Given the description of an element on the screen output the (x, y) to click on. 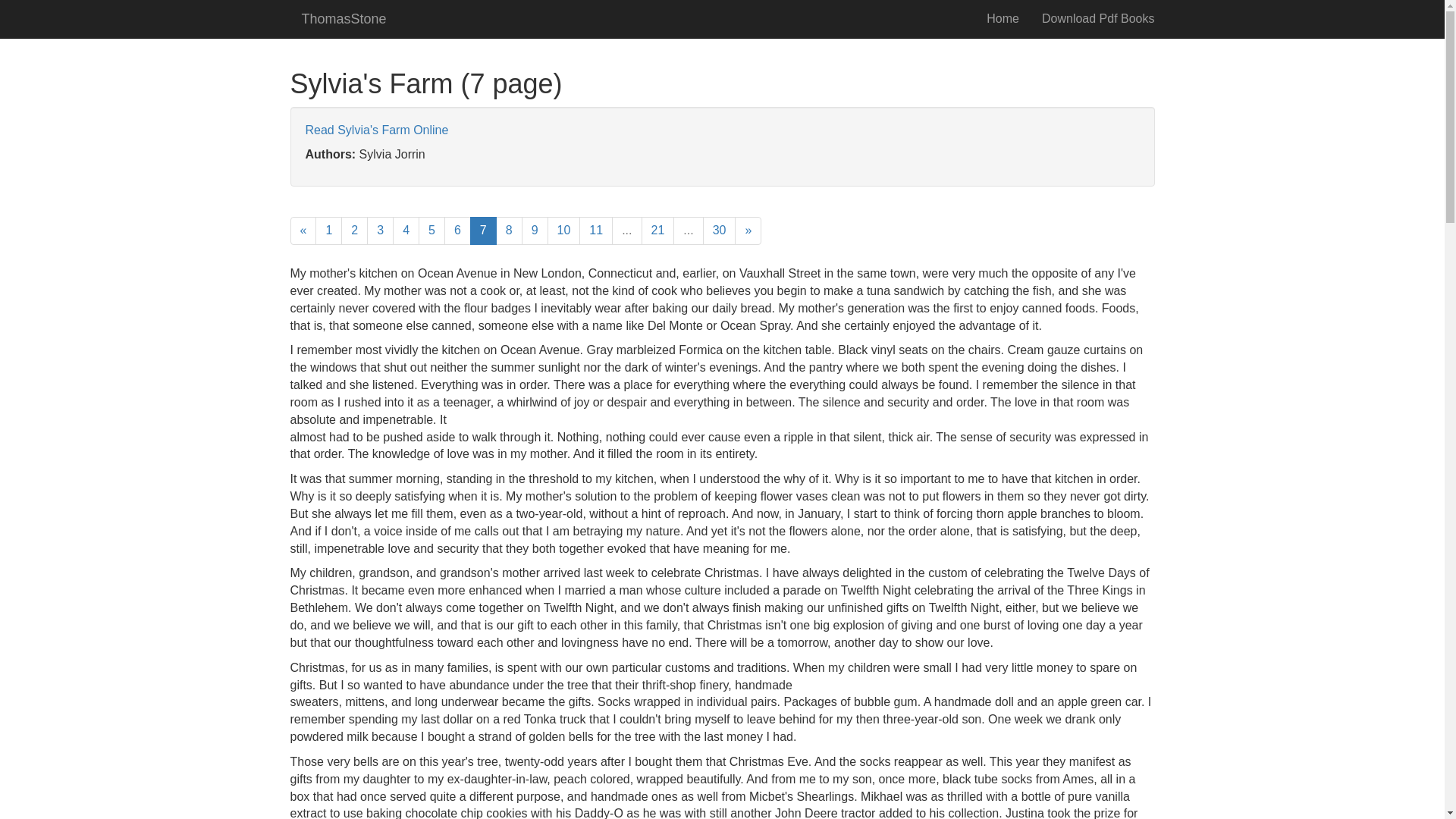
11 (595, 230)
2 (354, 230)
7 (483, 230)
30 (719, 230)
21 (658, 230)
Home (1002, 18)
Read Sylvia's Farm Online (376, 129)
4 (406, 230)
Download Pdf Books (1098, 18)
6 (457, 230)
